Given the description of an element on the screen output the (x, y) to click on. 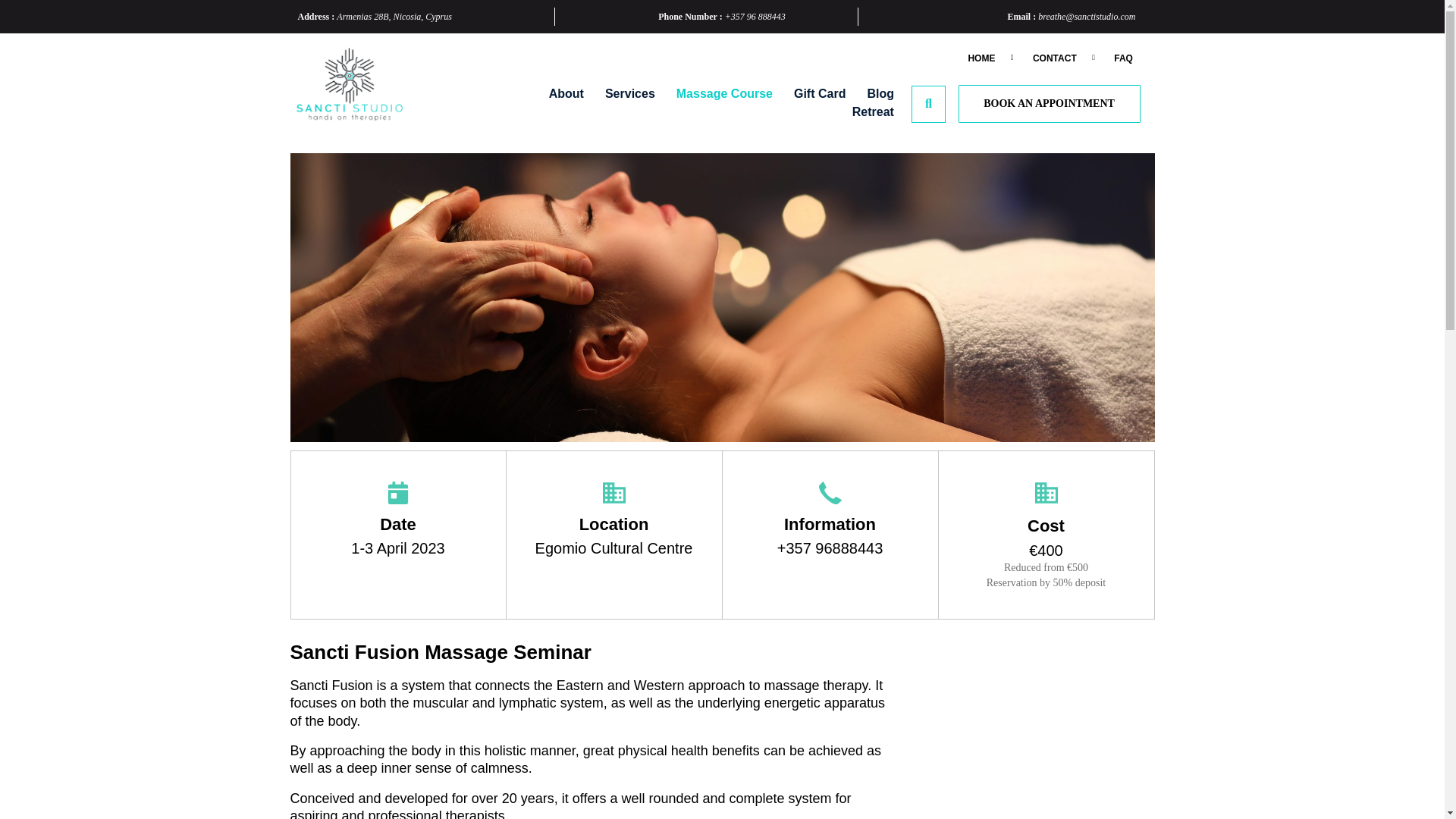
HOME (981, 58)
Massage Course (715, 94)
Armenias 28B, Nicosia, Cyprus (393, 16)
About (556, 94)
FAQ (1122, 58)
Blog (870, 94)
Gift Card (809, 94)
BOOK AN APPOINTMENT (1049, 103)
Retreat (862, 112)
Services (620, 94)
